Given the description of an element on the screen output the (x, y) to click on. 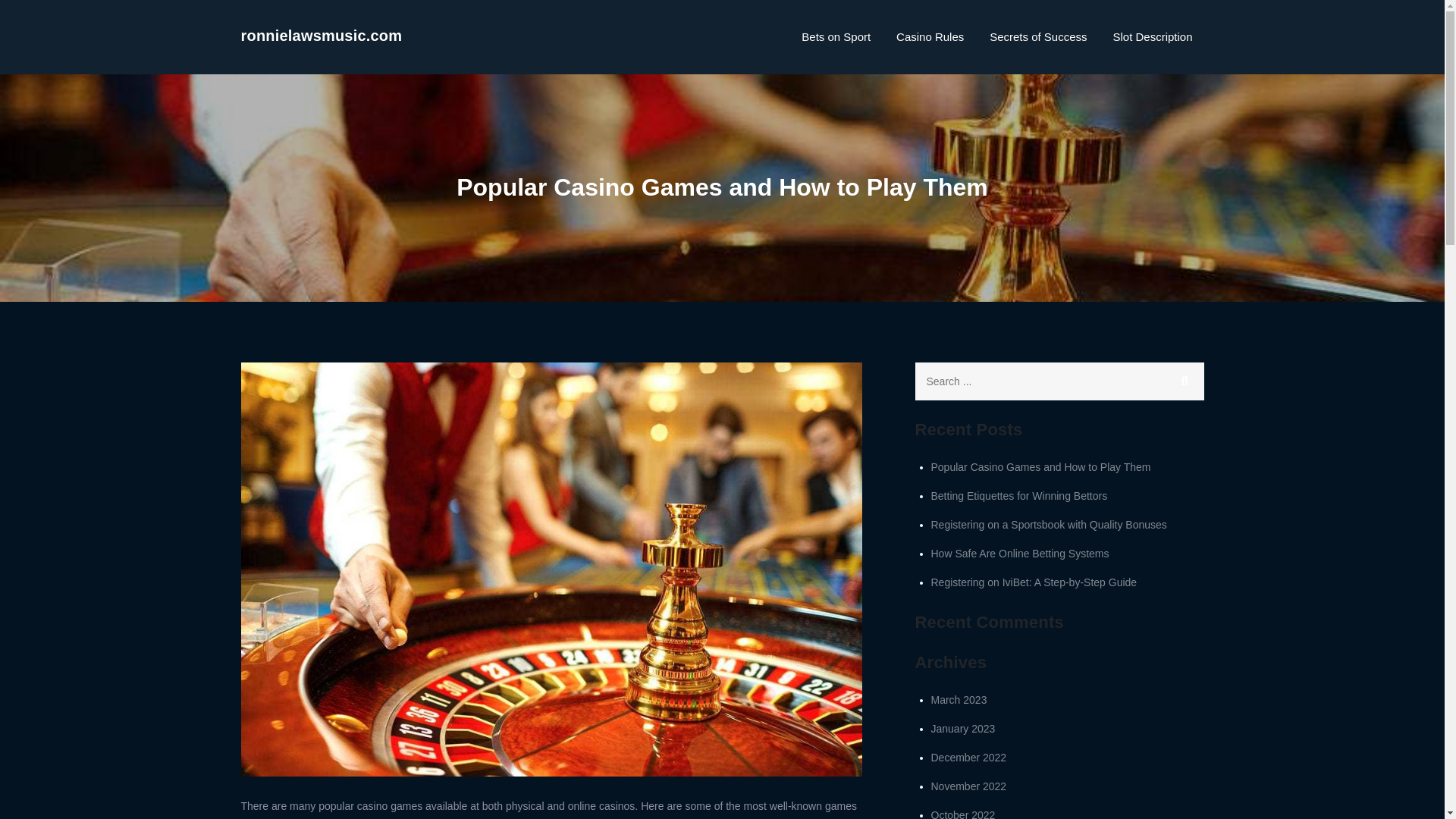
ronnielawsmusic.com (322, 35)
March 2023 (959, 699)
Registering on IviBet: A Step-by-Step Guide (1034, 582)
Search for: (1059, 381)
January 2023 (963, 728)
November 2022 (969, 786)
Slot Description (1152, 36)
October 2022 (963, 814)
Popular Casino Games and How to Play Them (1041, 467)
Registering on a Sportsbook with Quality Bonuses (1049, 524)
Secrets of Success (1038, 36)
December 2022 (969, 757)
Casino Rules (929, 36)
How Safe Are Online Betting Systems (1020, 553)
Search (1185, 381)
